Given the description of an element on the screen output the (x, y) to click on. 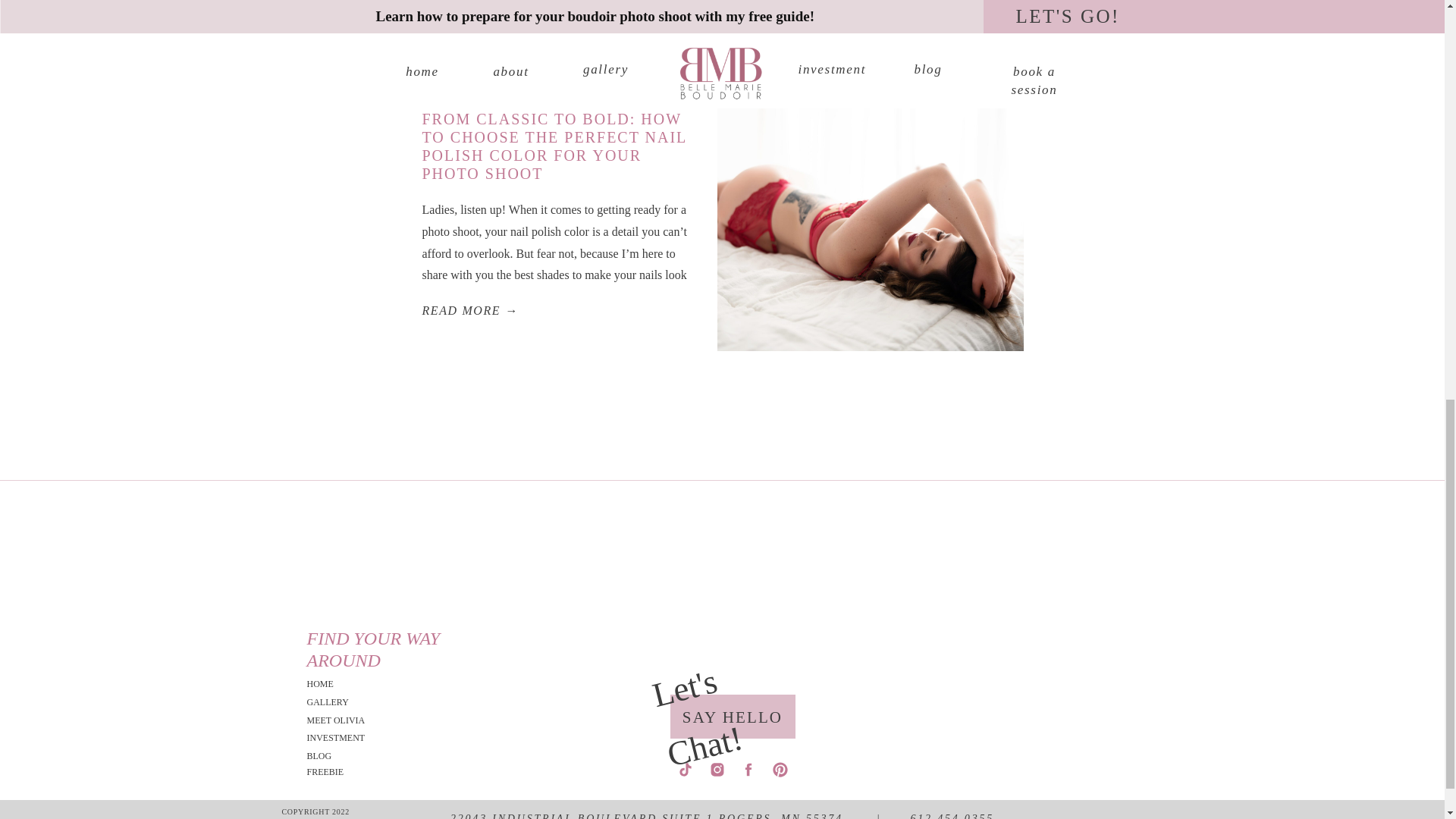
INVESTMENT (348, 738)
SESSION TIPS (448, 96)
MEET OLIVIA (348, 720)
BLOG (348, 756)
HOME (348, 684)
